Given the description of an element on the screen output the (x, y) to click on. 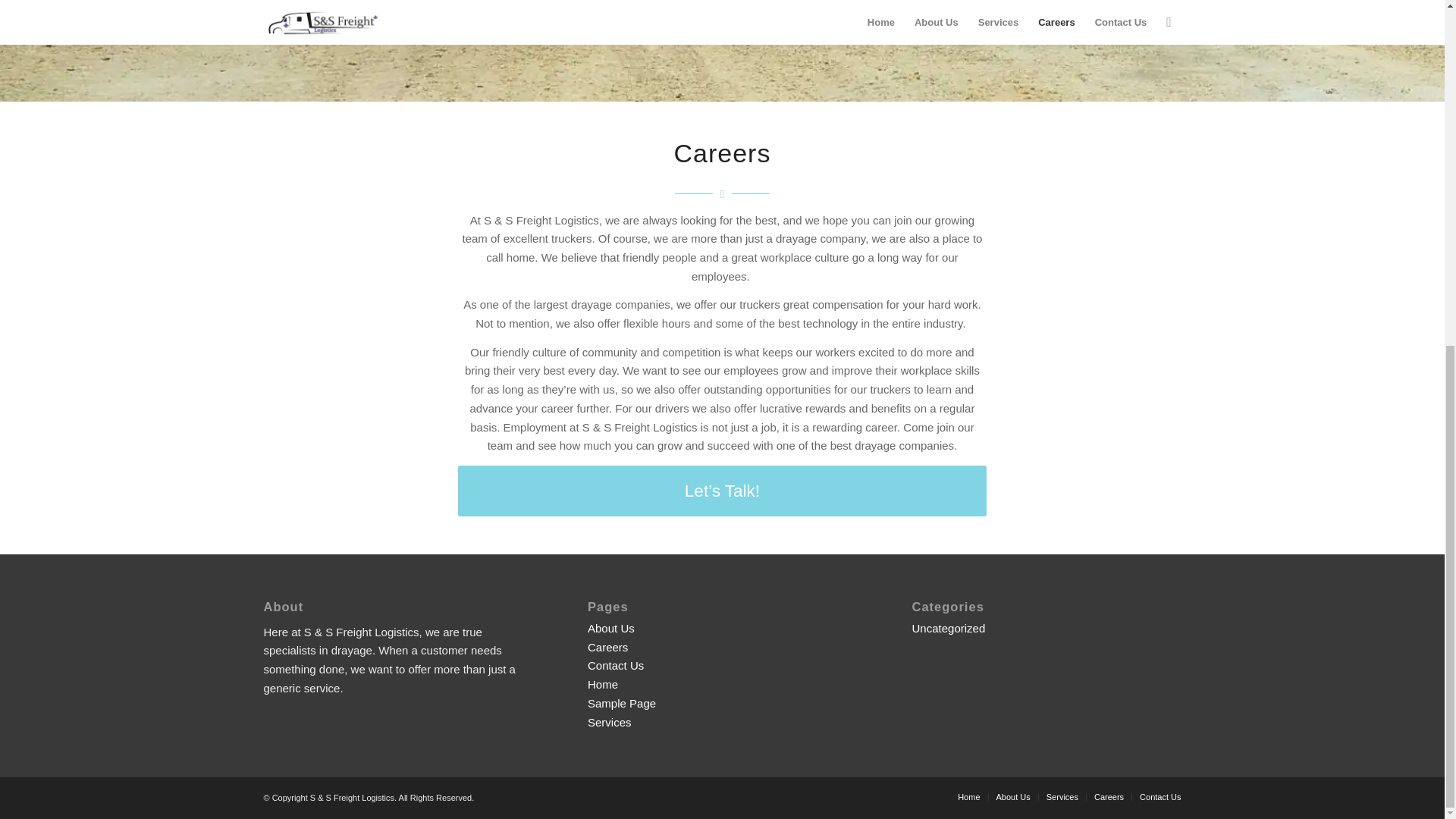
About Us (611, 627)
Services (1062, 796)
Contact Us (615, 665)
Careers (1109, 796)
Careers (607, 646)
Uncategorized (948, 627)
Home (602, 684)
Home (968, 796)
About Us (1012, 796)
Sample Page (622, 703)
Contact Us (1160, 796)
Services (609, 721)
